Given the description of an element on the screen output the (x, y) to click on. 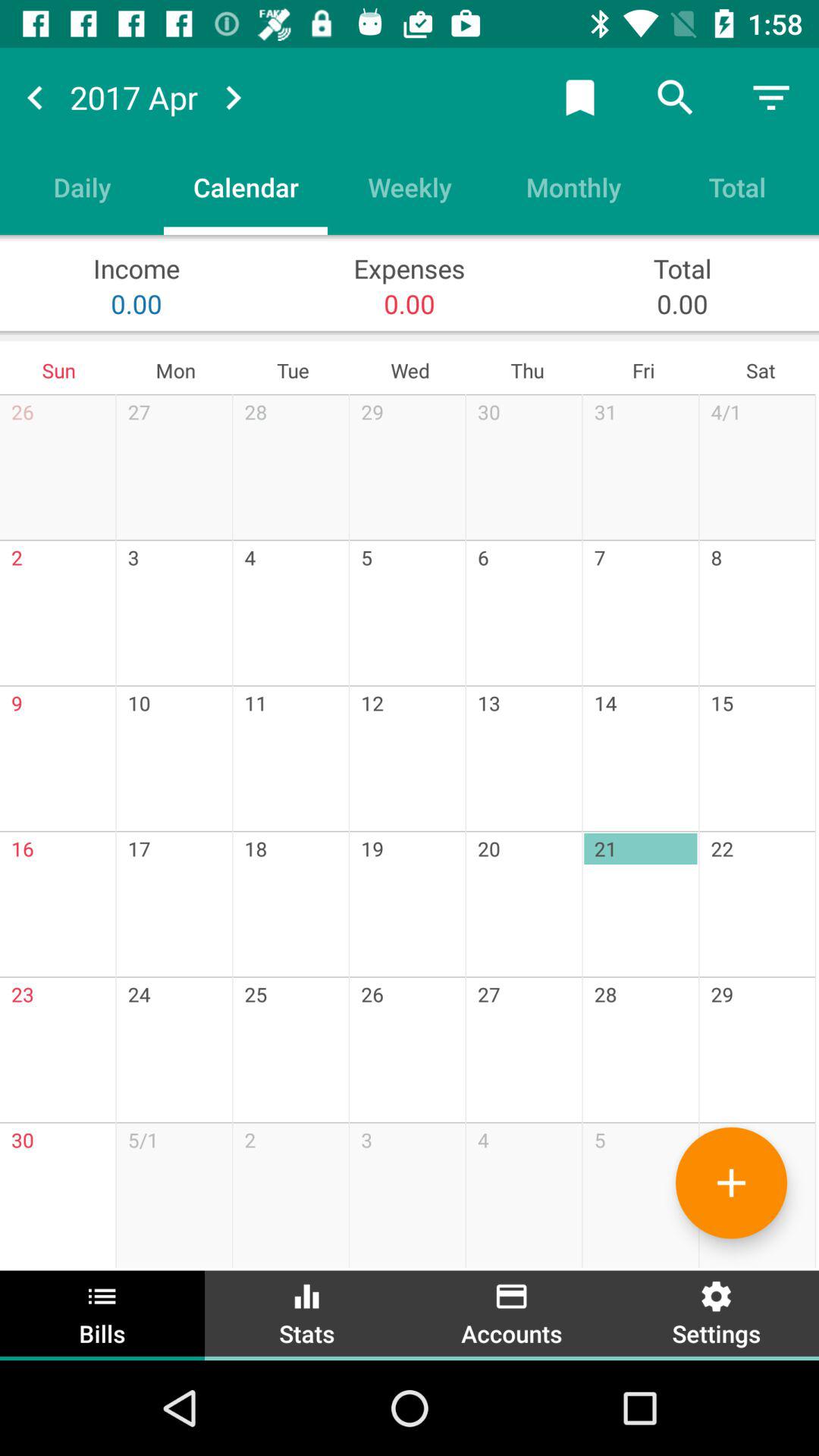
launch the item to the right of the weekly item (573, 186)
